Given the description of an element on the screen output the (x, y) to click on. 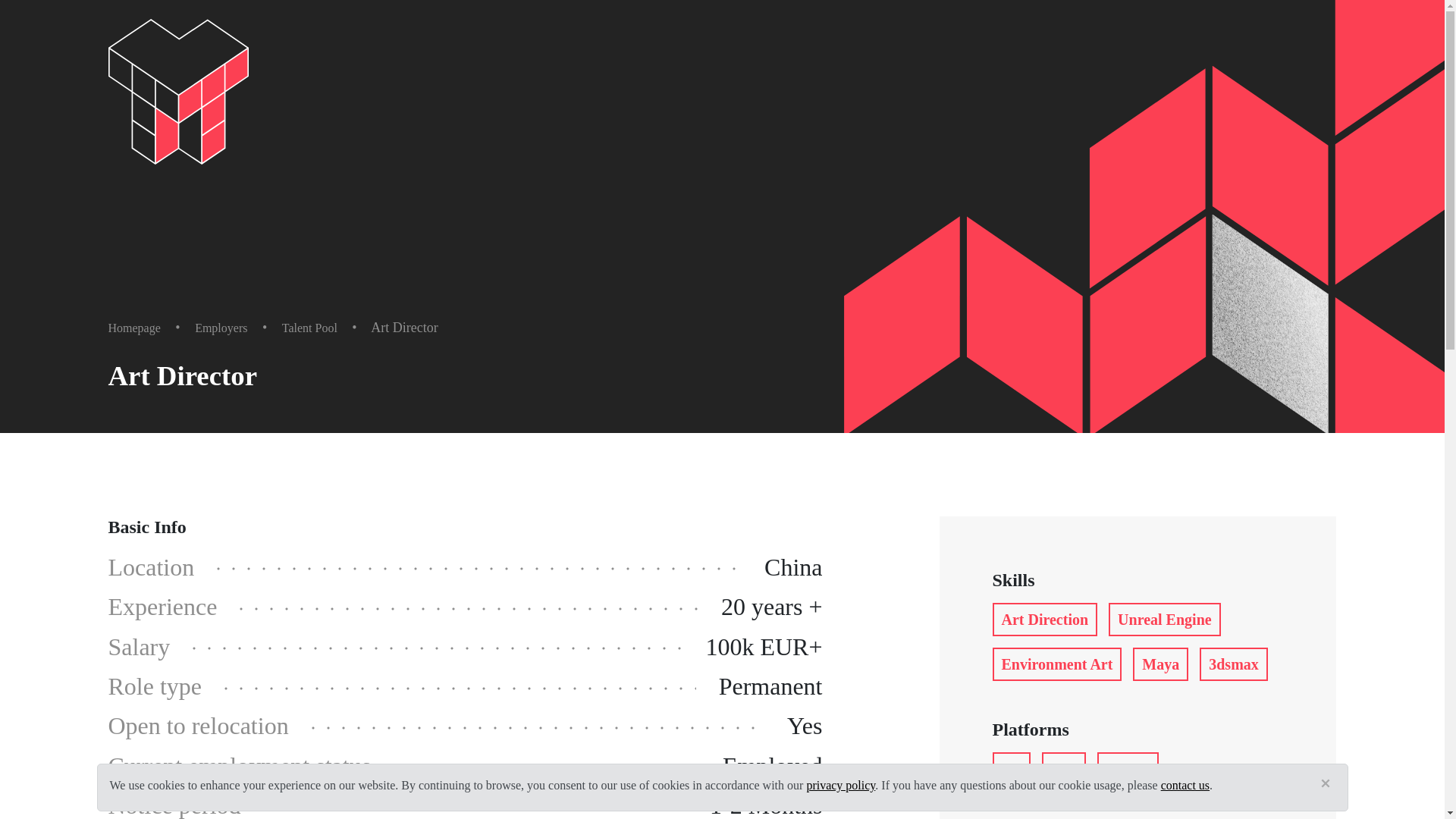
Talent Pool (309, 327)
privacy policy (840, 784)
contact us (1184, 784)
Homepage (133, 327)
Employers (221, 327)
